Given the description of an element on the screen output the (x, y) to click on. 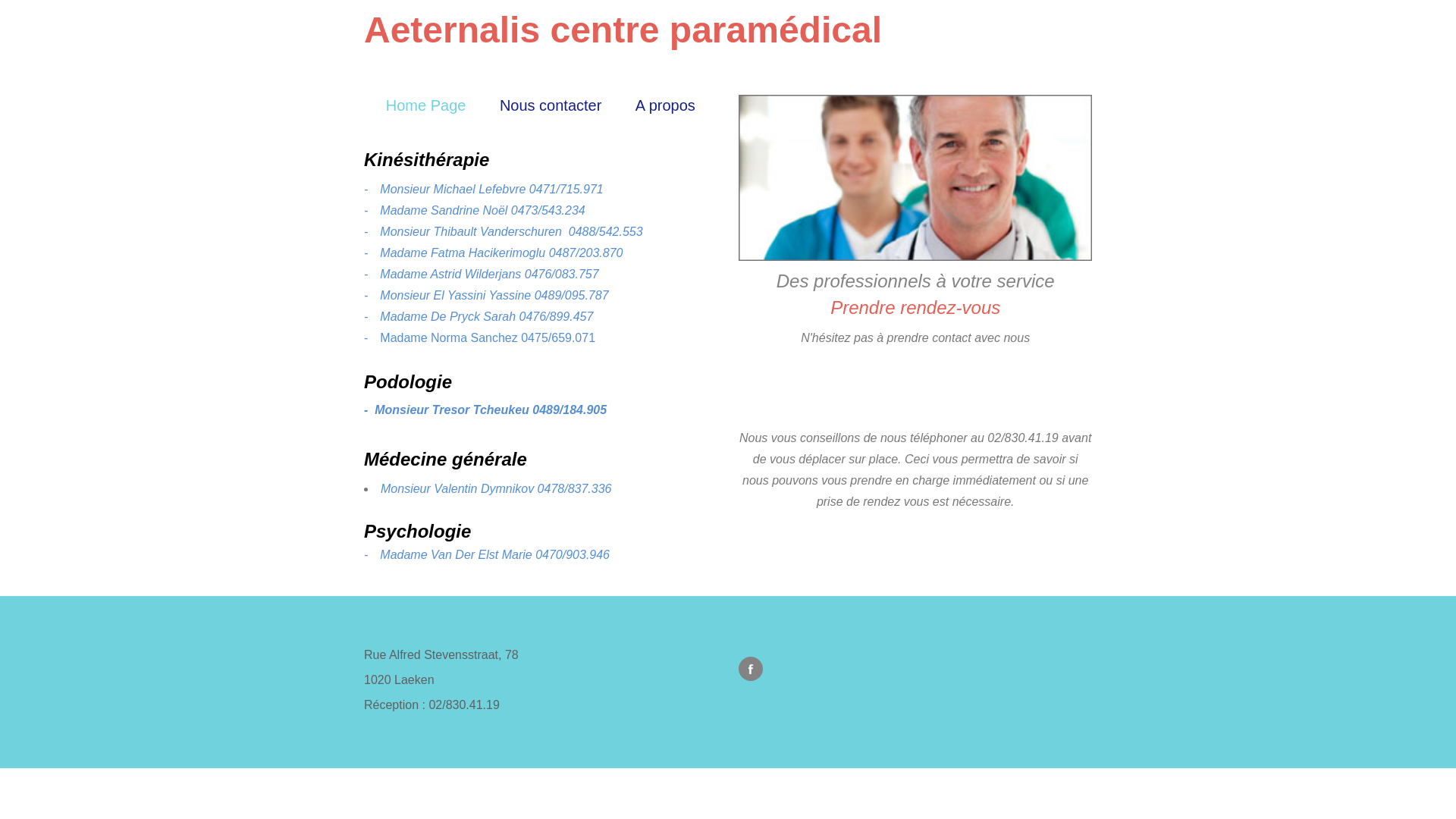
Nous contacter Element type: text (550, 105)
Facebook Element type: text (750, 668)
Home Page Element type: text (425, 105)
Prendre rendez-vous Element type: text (915, 307)
A propos Element type: text (665, 105)
